Given the description of an element on the screen output the (x, y) to click on. 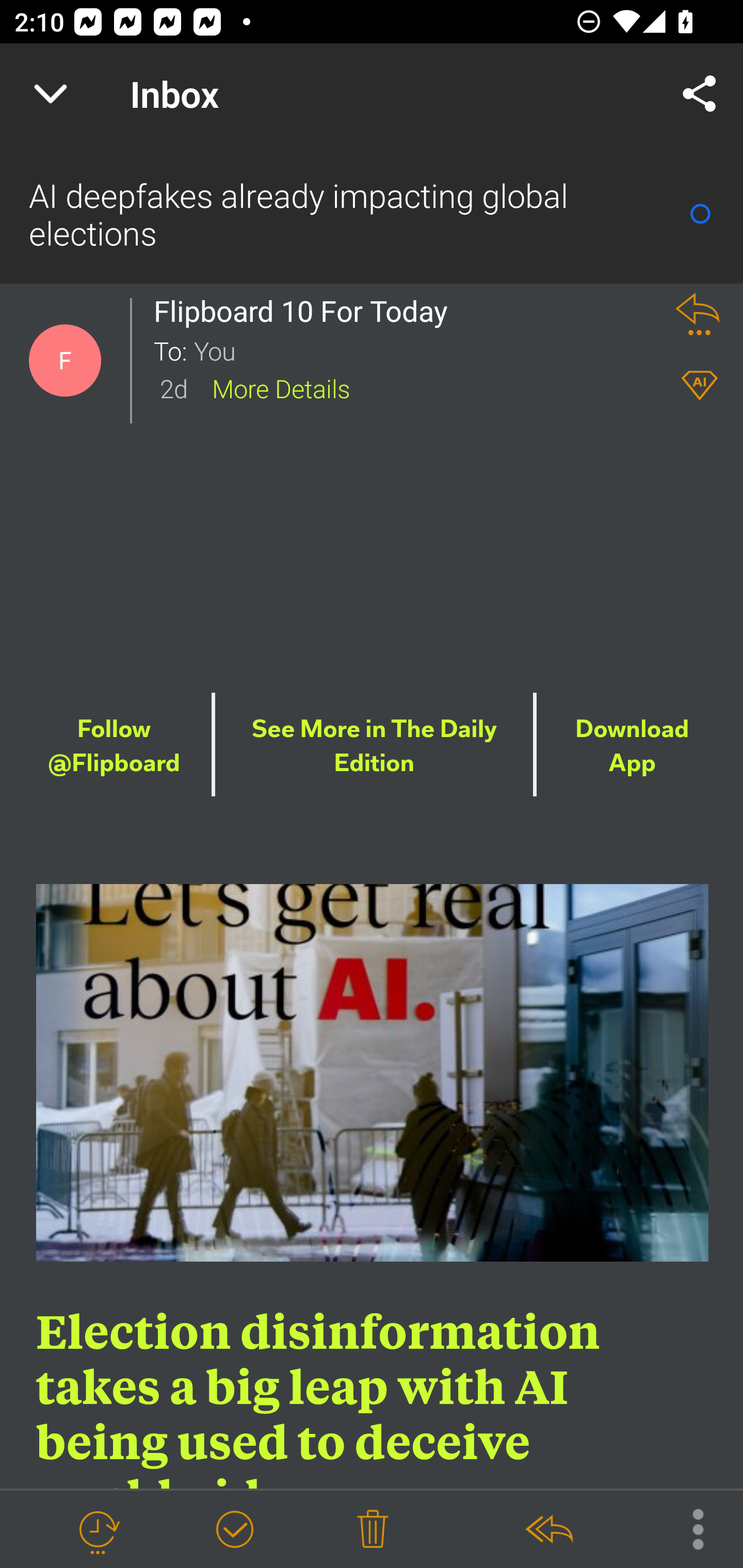
Navigate up (50, 93)
Share (699, 93)
Mark as Read (699, 213)
Flipboard 10 For Today (305, 310)
Contact Details (64, 360)
You (422, 349)
More Details (280, 387)
Follow @Flipboard Follow  @Flipboard (114, 746)
See More in The Daily Edition (374, 746)
Download App (631, 746)
More Options (687, 1528)
Snooze (97, 1529)
Mark as Done (234, 1529)
Delete (372, 1529)
Reply All (548, 1529)
